Given the description of an element on the screen output the (x, y) to click on. 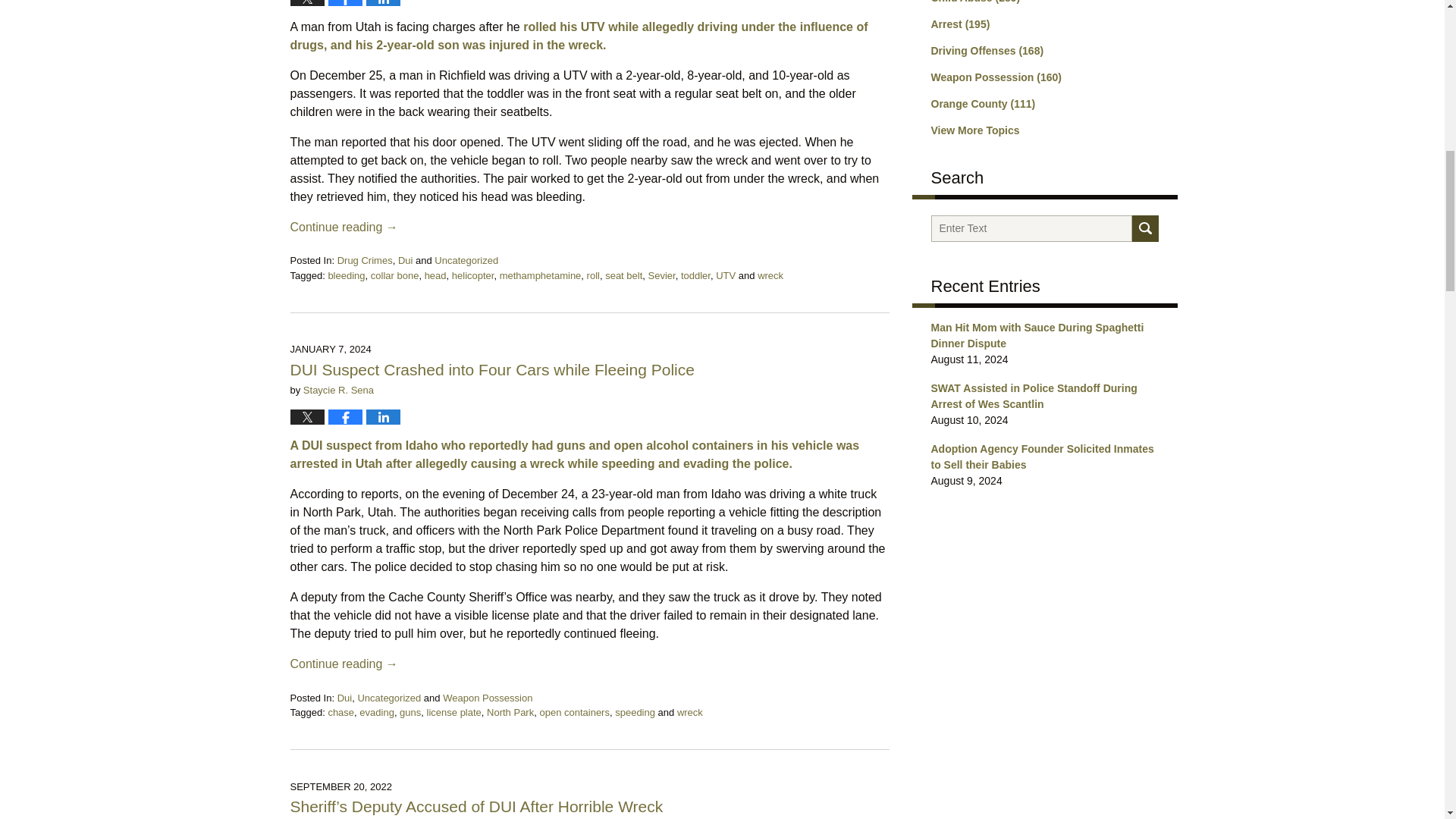
View all posts in Dui (405, 260)
View all posts in Drug Crimes (365, 260)
